Given the description of an element on the screen output the (x, y) to click on. 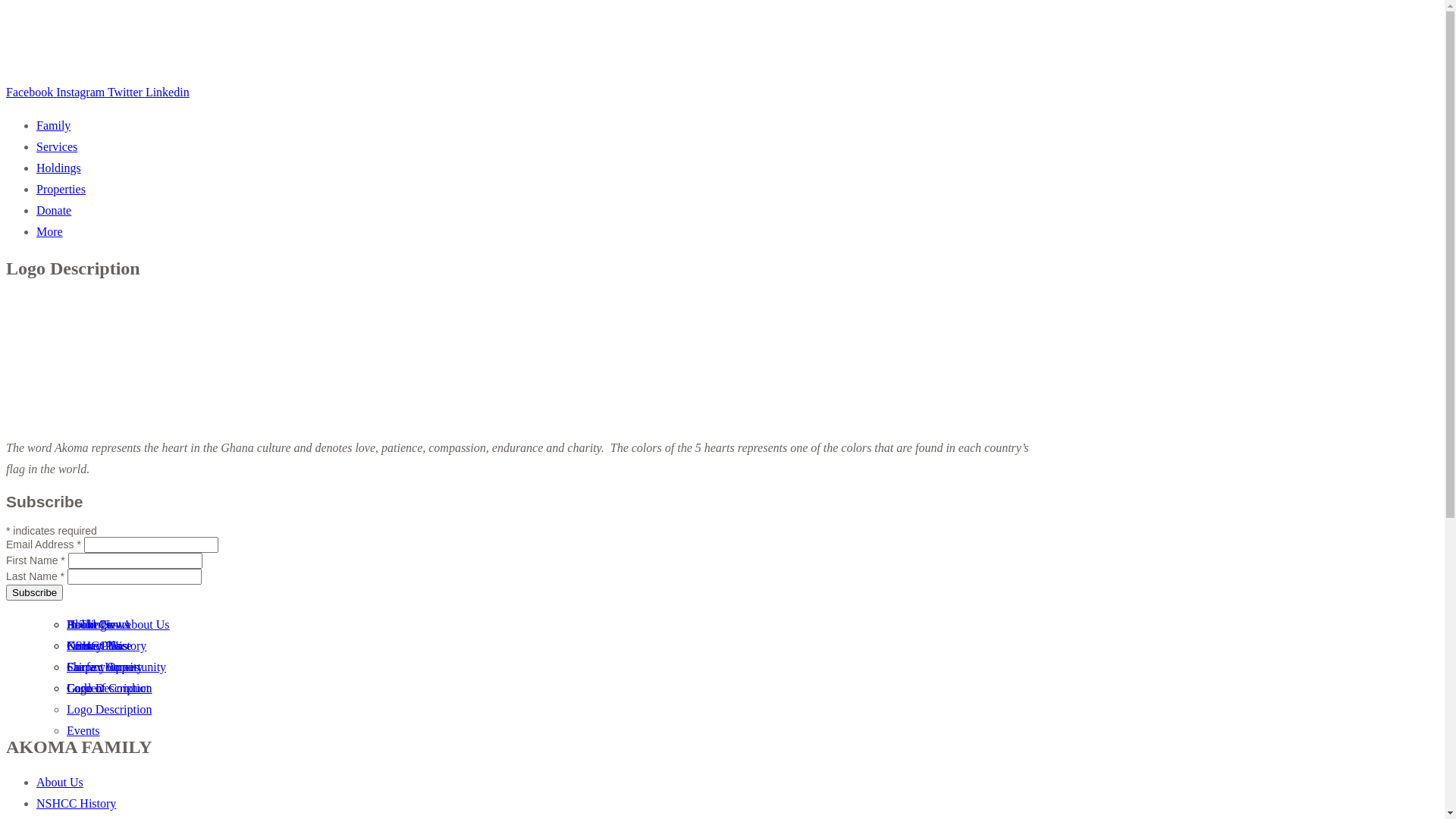
Current Opportunity Element type: text (116, 666)
Facebook Element type: text (31, 91)
Code of Conduct Element type: text (107, 687)
In The News Element type: text (97, 624)
Donate Element type: text (53, 209)
Services Element type: text (56, 146)
Properties Element type: text (60, 188)
NSHCC History Element type: text (76, 803)
Future Plans Element type: text (96, 645)
About Us Element type: text (89, 624)
Garden Element type: text (84, 687)
Shape your city Element type: text (104, 666)
Logo Description Element type: text (108, 687)
Linkedin Element type: text (167, 91)
More Element type: text (49, 231)
Family Element type: text (53, 125)
Fairfax Homes Element type: text (102, 666)
About Us Element type: text (59, 781)
Contact Us Element type: text (93, 645)
Instagram Element type: text (81, 91)
Events Element type: text (83, 730)
Logo Description Element type: text (108, 708)
Bauld Centre Element type: text (98, 624)
Twitter Element type: text (126, 91)
Holdings Element type: text (58, 167)
Kinney Place Element type: text (98, 645)
NSHCC History Element type: text (106, 645)
Subscribe Element type: text (34, 592)
